Given the description of an element on the screen output the (x, y) to click on. 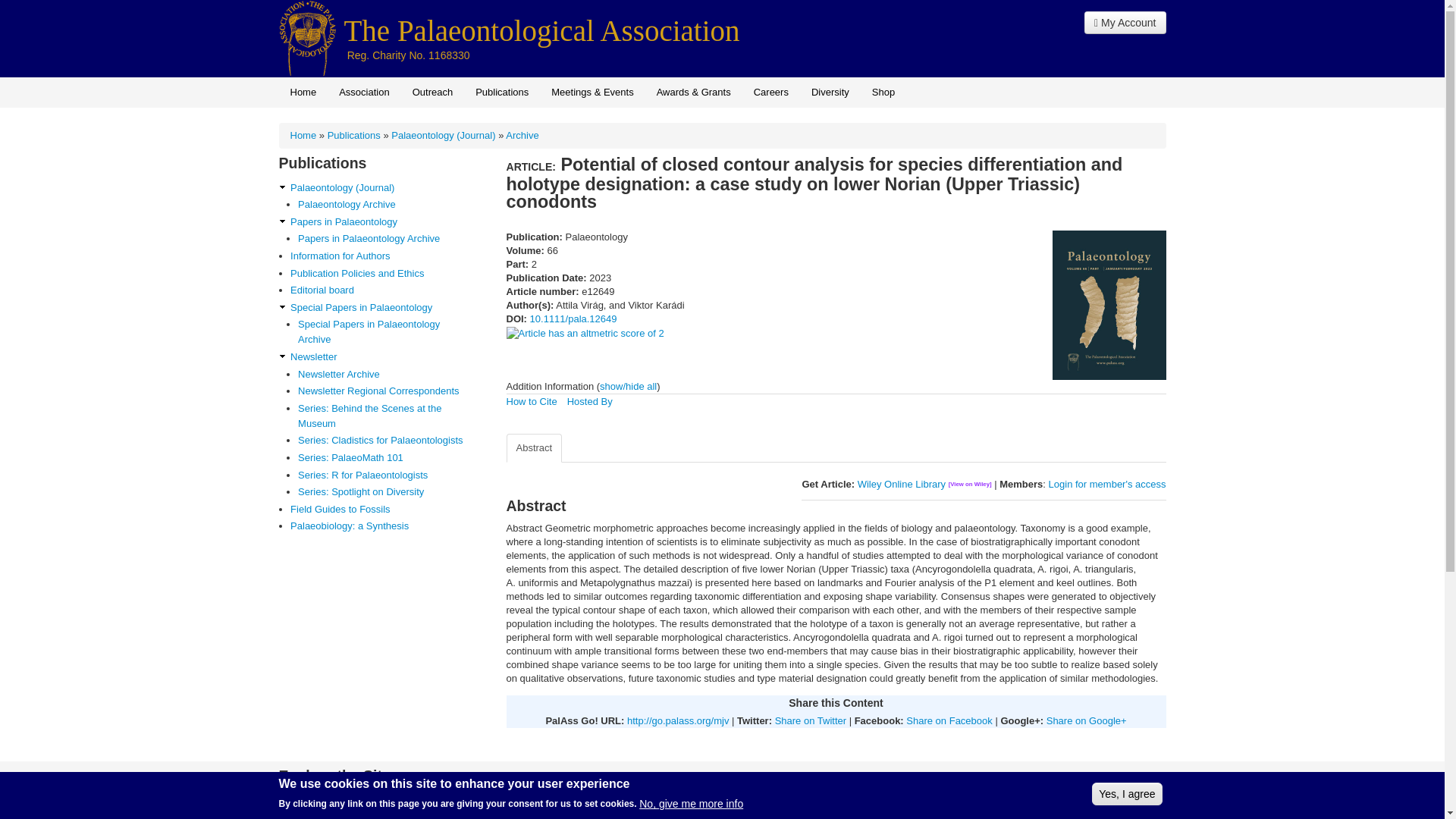
My Account (1125, 22)
Diversity (829, 91)
Archive (521, 134)
Special Papers in Palaeontology Archive (385, 331)
Field Guides to Fossils (384, 509)
PalAss Online Shop (882, 91)
Careers (770, 91)
Home (541, 30)
Papers in Palaeontology Archive (385, 238)
Newsletter Regional Correspondents (385, 391)
My Account (1125, 22)
